Given the description of an element on the screen output the (x, y) to click on. 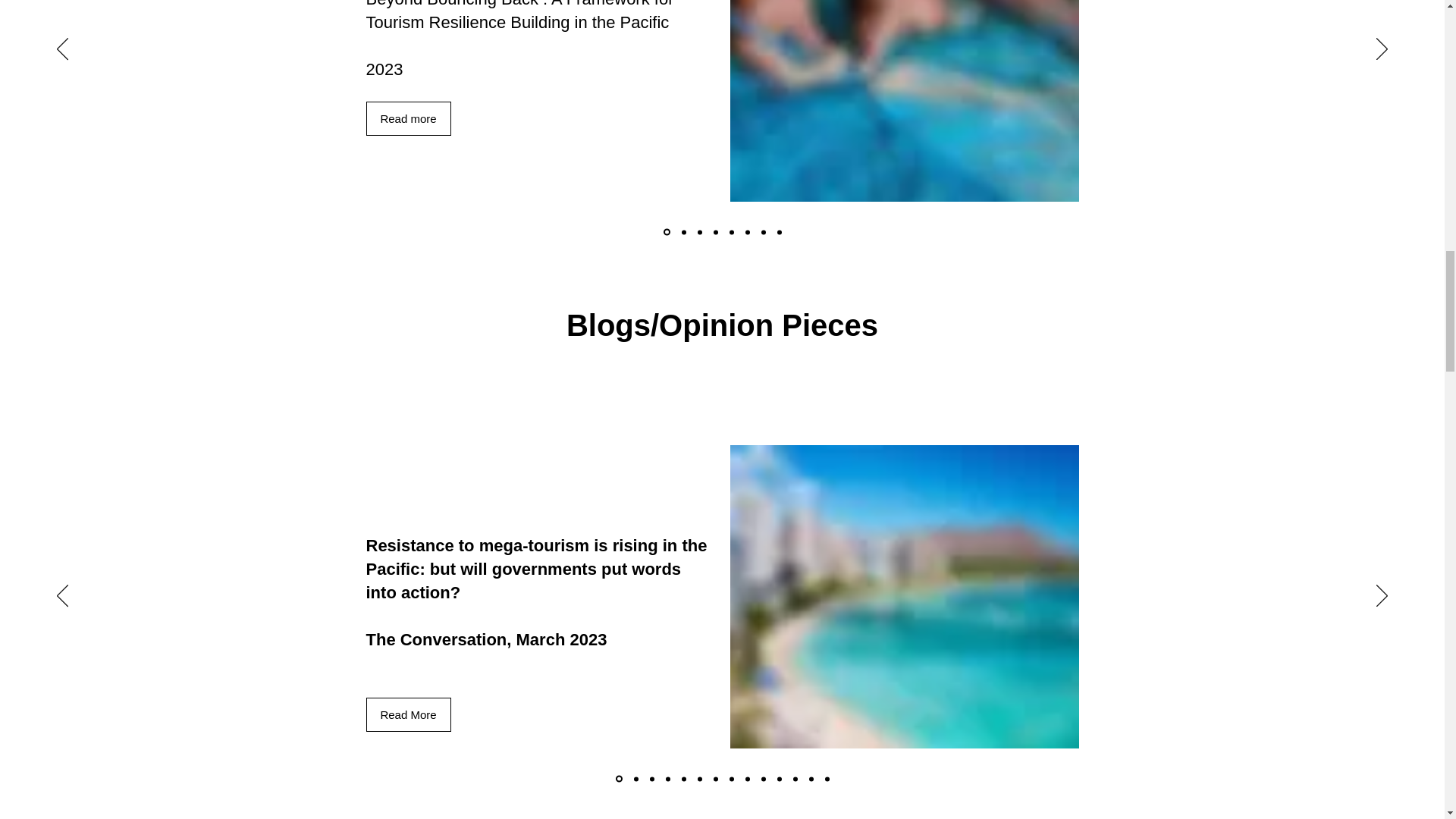
Read more (407, 118)
Read More (407, 714)
